Given the description of an element on the screen output the (x, y) to click on. 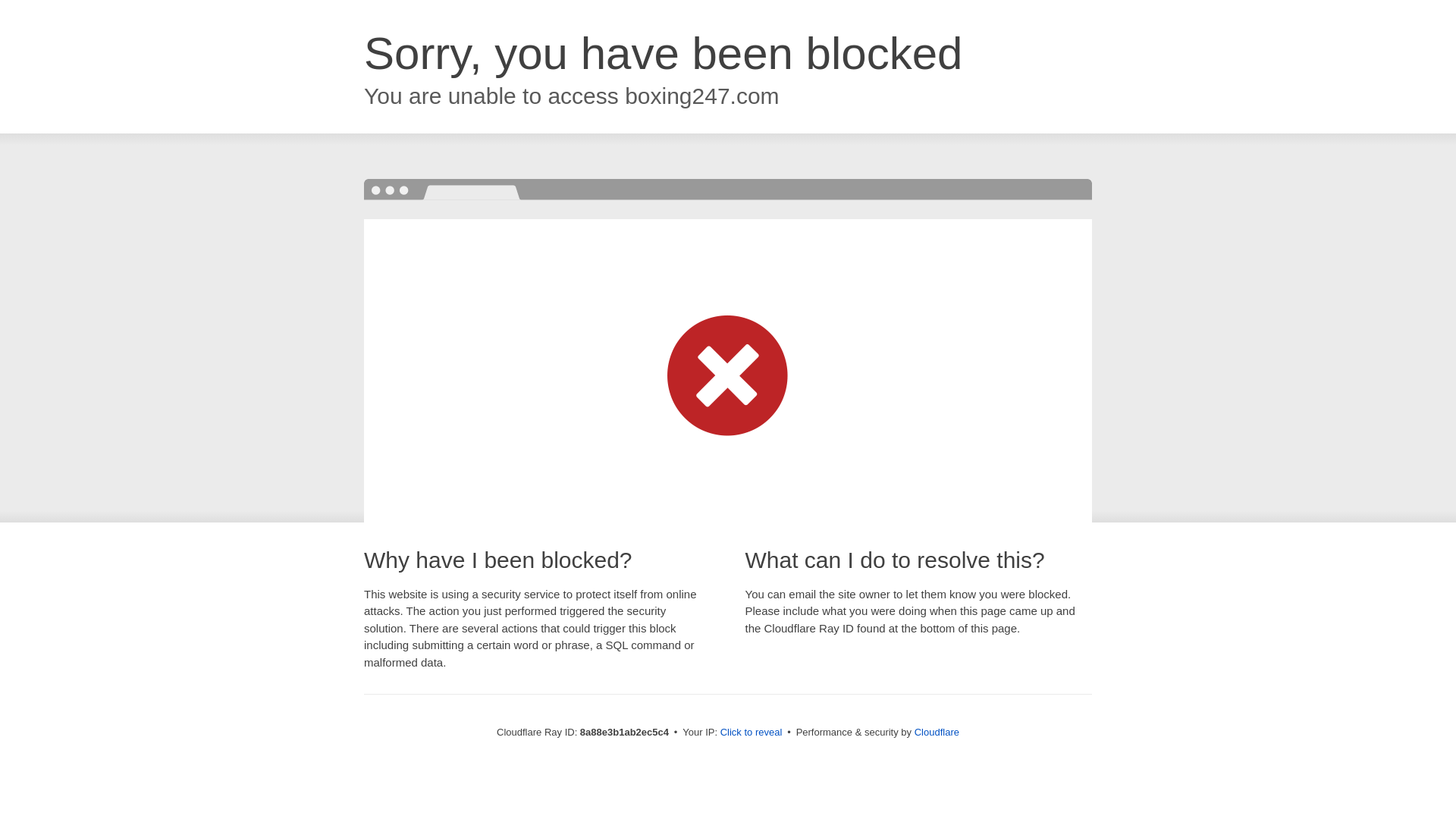
Cloudflare (936, 731)
Click to reveal (751, 732)
